Given the description of an element on the screen output the (x, y) to click on. 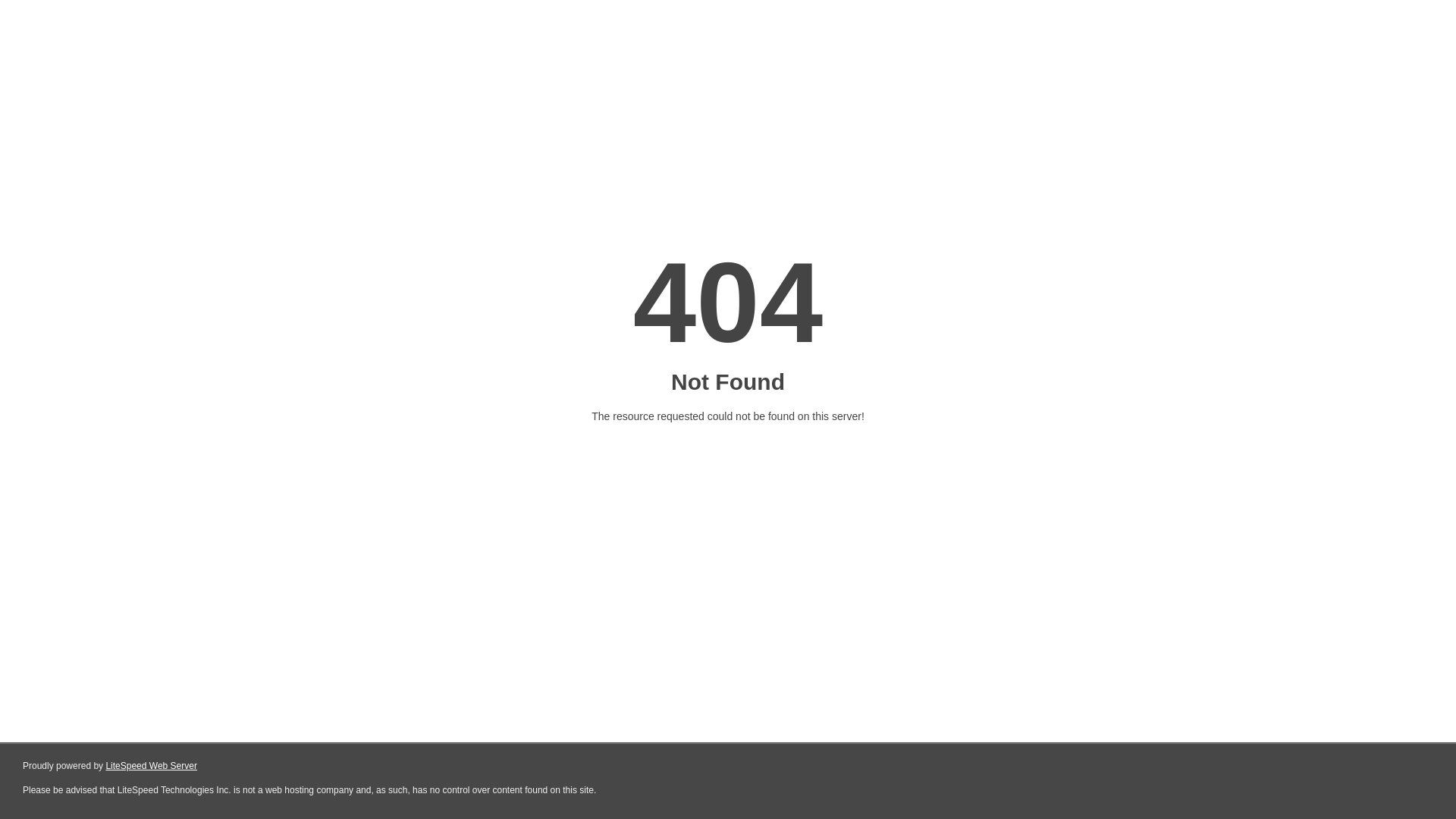
LiteSpeed Web Server Element type: text (151, 765)
